Given the description of an element on the screen output the (x, y) to click on. 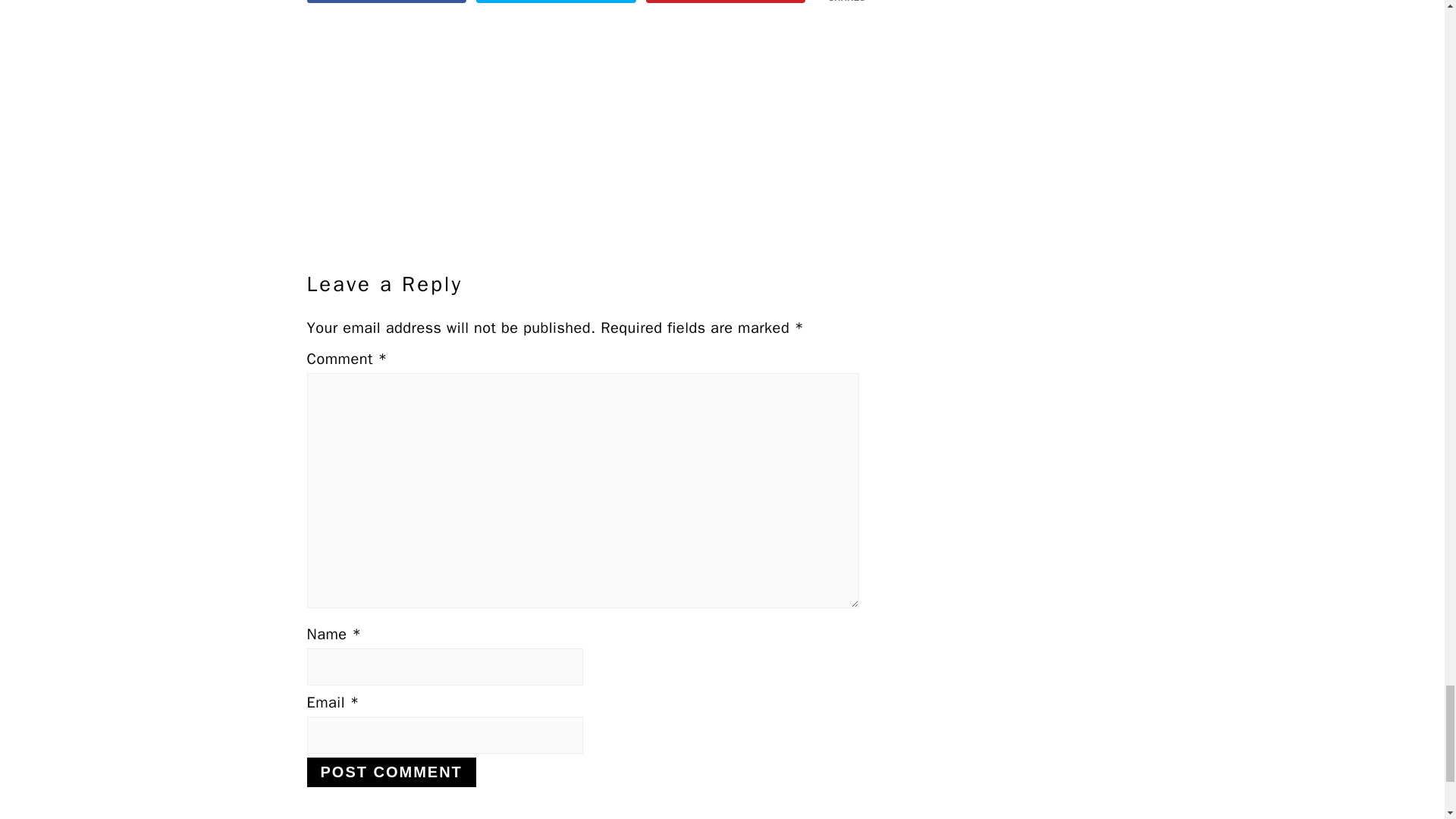
Share on Facebook (385, 1)
Post Comment (390, 772)
Save to Pinterest (726, 1)
Share on Twitter (556, 1)
